Given the description of an element on the screen output the (x, y) to click on. 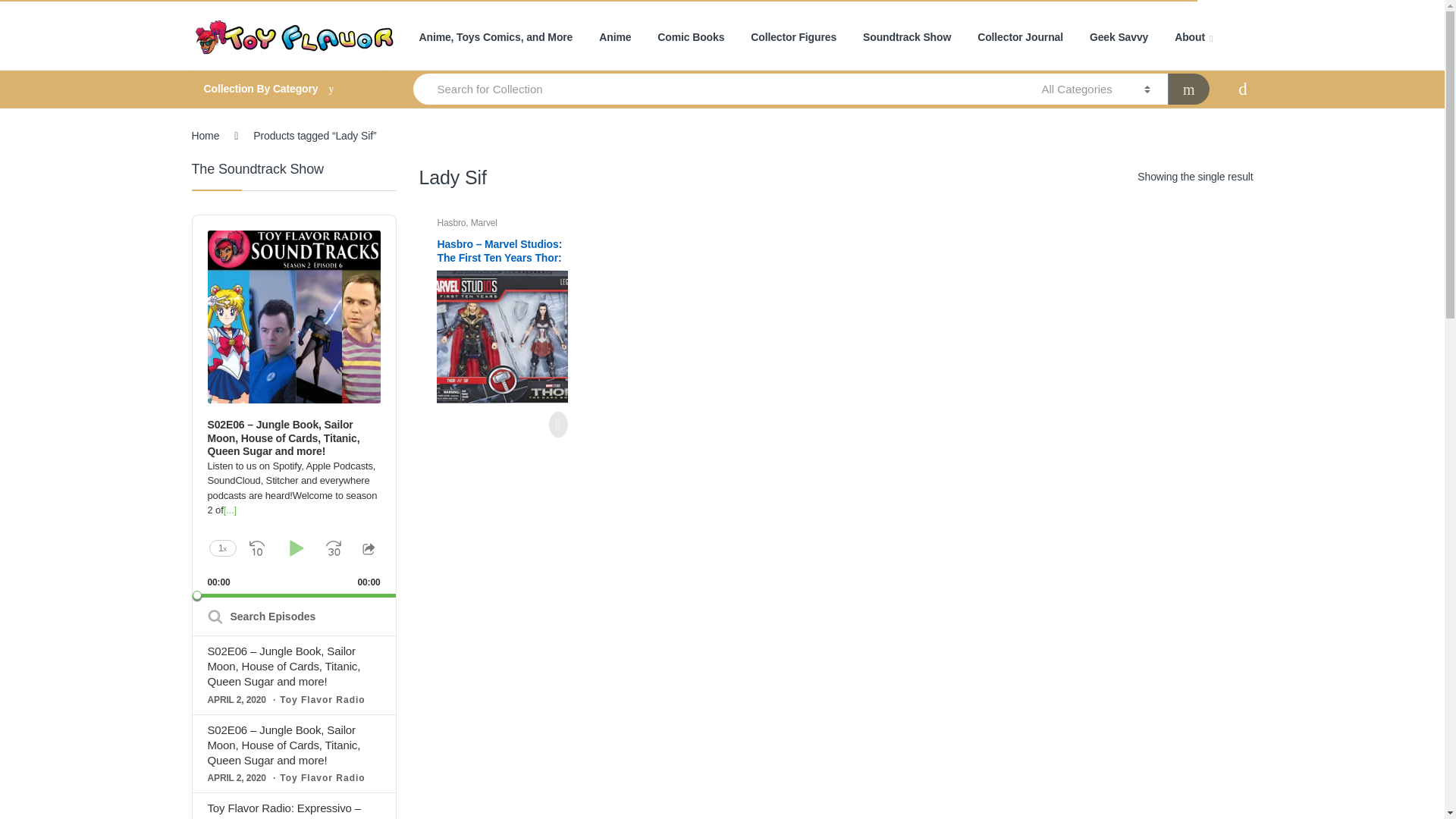
Collector Figures (793, 37)
Geek Savvy (1118, 37)
Comic Books (690, 37)
Collector Journal (1019, 37)
Collection By Category (287, 89)
Soundtrack Show (906, 37)
Anime, Toys Comics, and More (495, 37)
About (1193, 37)
0 (294, 595)
Collector Figures (793, 37)
